Given the description of an element on the screen output the (x, y) to click on. 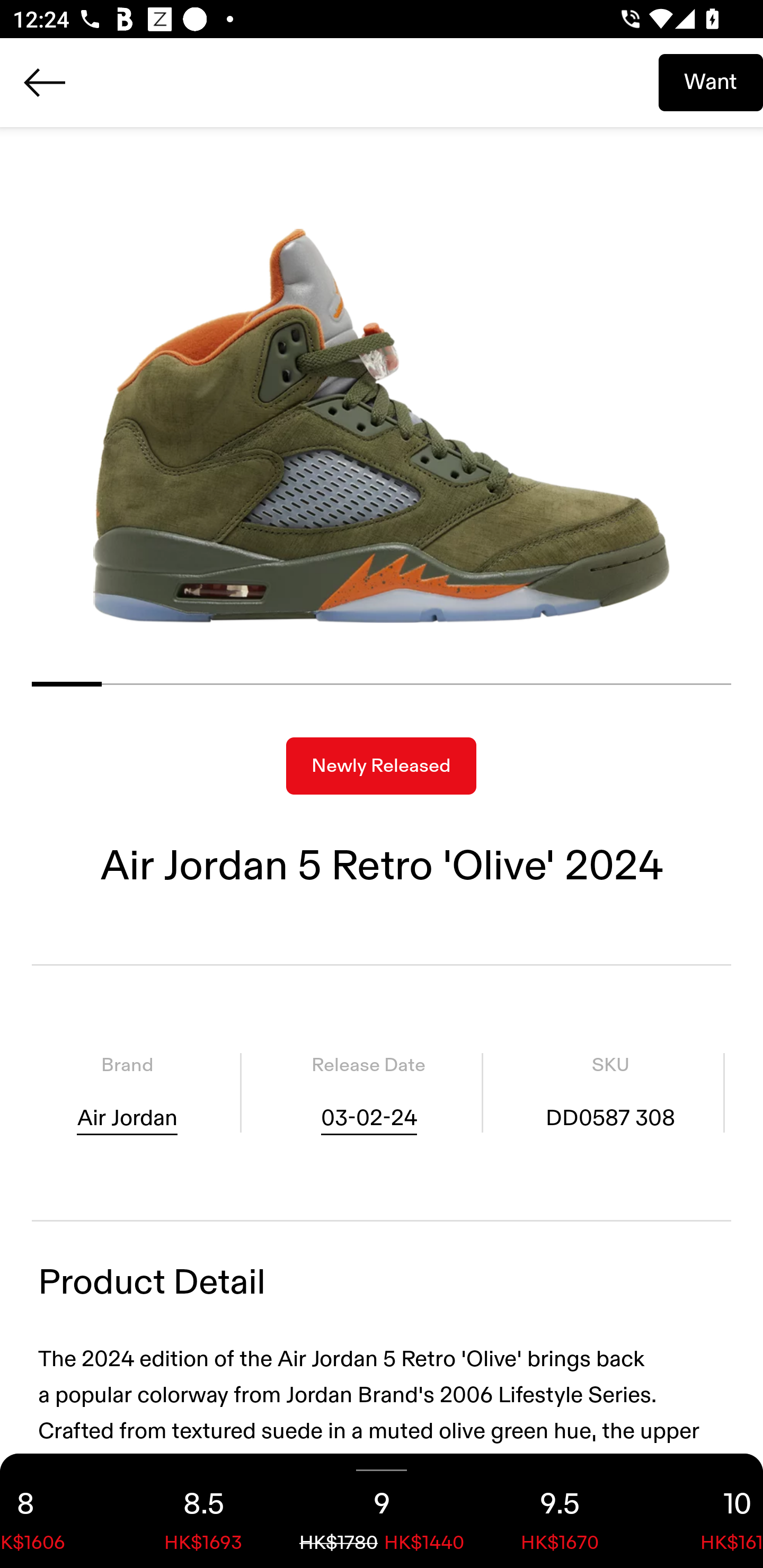
Want (710, 82)
Newly Released (381, 765)
Brand Air Jordan (126, 1092)
Release Date 03-02-24 (368, 1092)
SKU DD0587 308 (609, 1092)
8 HK$1606 (57, 1510)
8.5 HK$1693 (203, 1510)
9 HK$1780 HK$1440 (381, 1510)
9.5 HK$1670 (559, 1510)
10 HK$1614 (705, 1510)
